Given the description of an element on the screen output the (x, y) to click on. 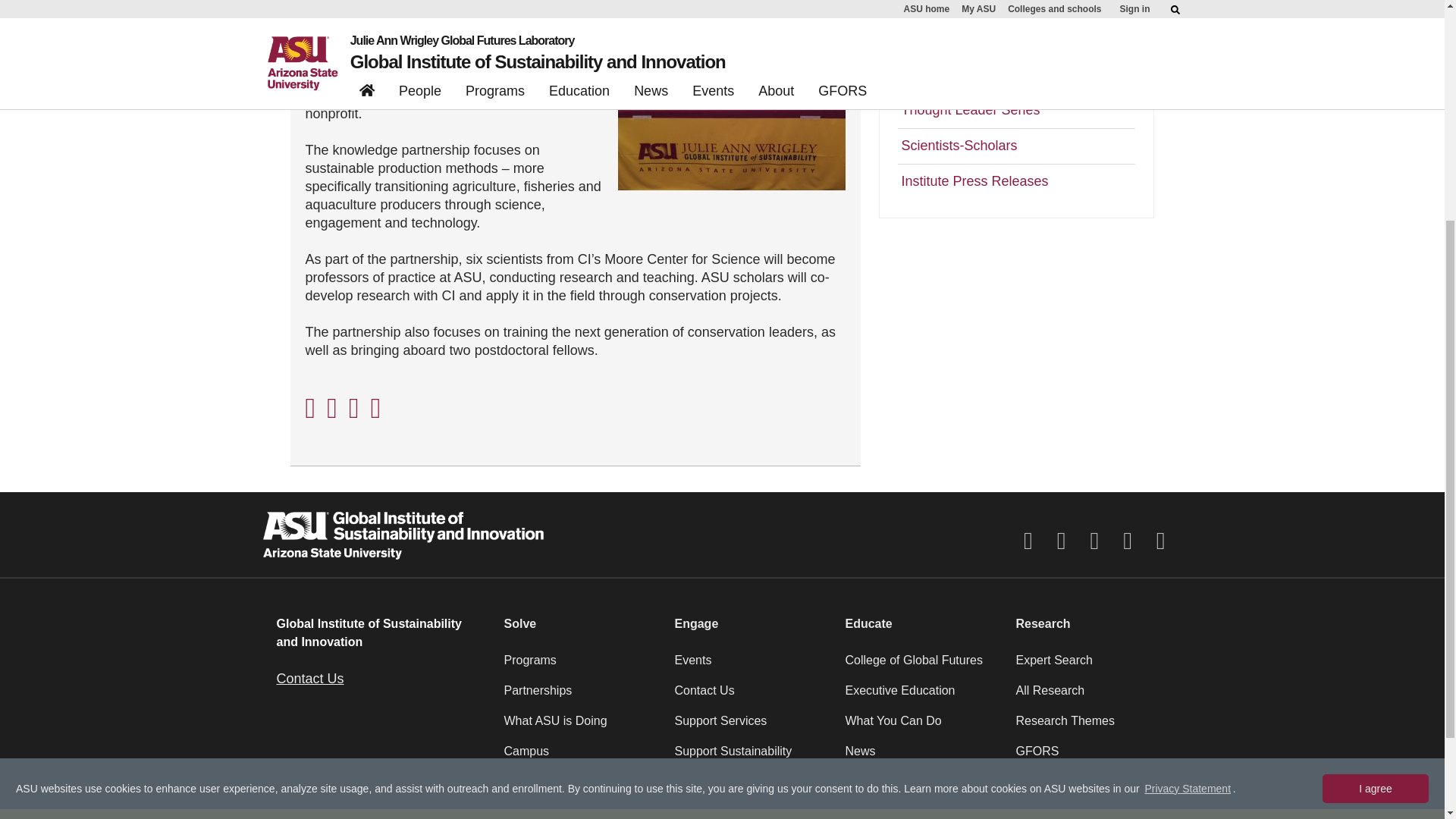
Support Services (751, 726)
ASU Sustainability and Innovation News (1016, 28)
Campus (579, 757)
All Research (1092, 696)
Contact Us (751, 696)
School of Sustainability News (1016, 74)
What You Can Do (920, 726)
Thought Leader Series (1016, 109)
College of Global Futures (920, 666)
Events (751, 666)
Programs (579, 666)
What ASU is Doing (579, 726)
Executive Education (920, 696)
Institute Press Releases (1016, 181)
Expert Search (1092, 666)
